Given the description of an element on the screen output the (x, y) to click on. 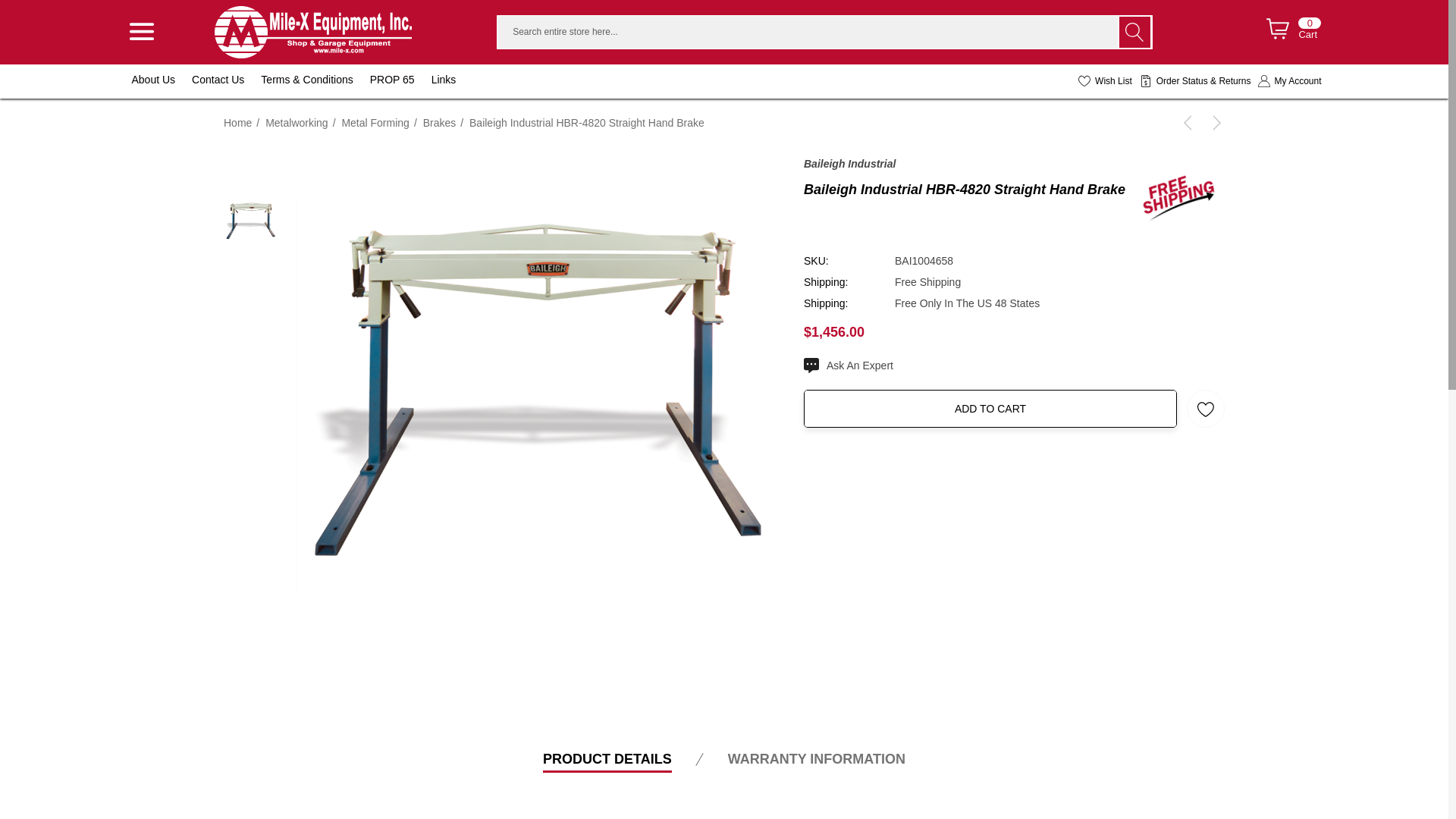
PROP 65 (399, 79)
Review Your Cart Review Your Cart (1277, 28)
Home (237, 122)
Metal Forming (374, 122)
Wish List (1291, 31)
Baileigh Industrial HBR-4820 Straight Hand Brake (1105, 81)
My Account (586, 122)
About Us (1288, 81)
Metalworking (154, 81)
Brakes (295, 122)
Baileigh Industrial HBR-4820 Straight Hand Brake (440, 122)
Mile-X Equipment, Inc (443, 81)
Contact Us (313, 31)
